Given the description of an element on the screen output the (x, y) to click on. 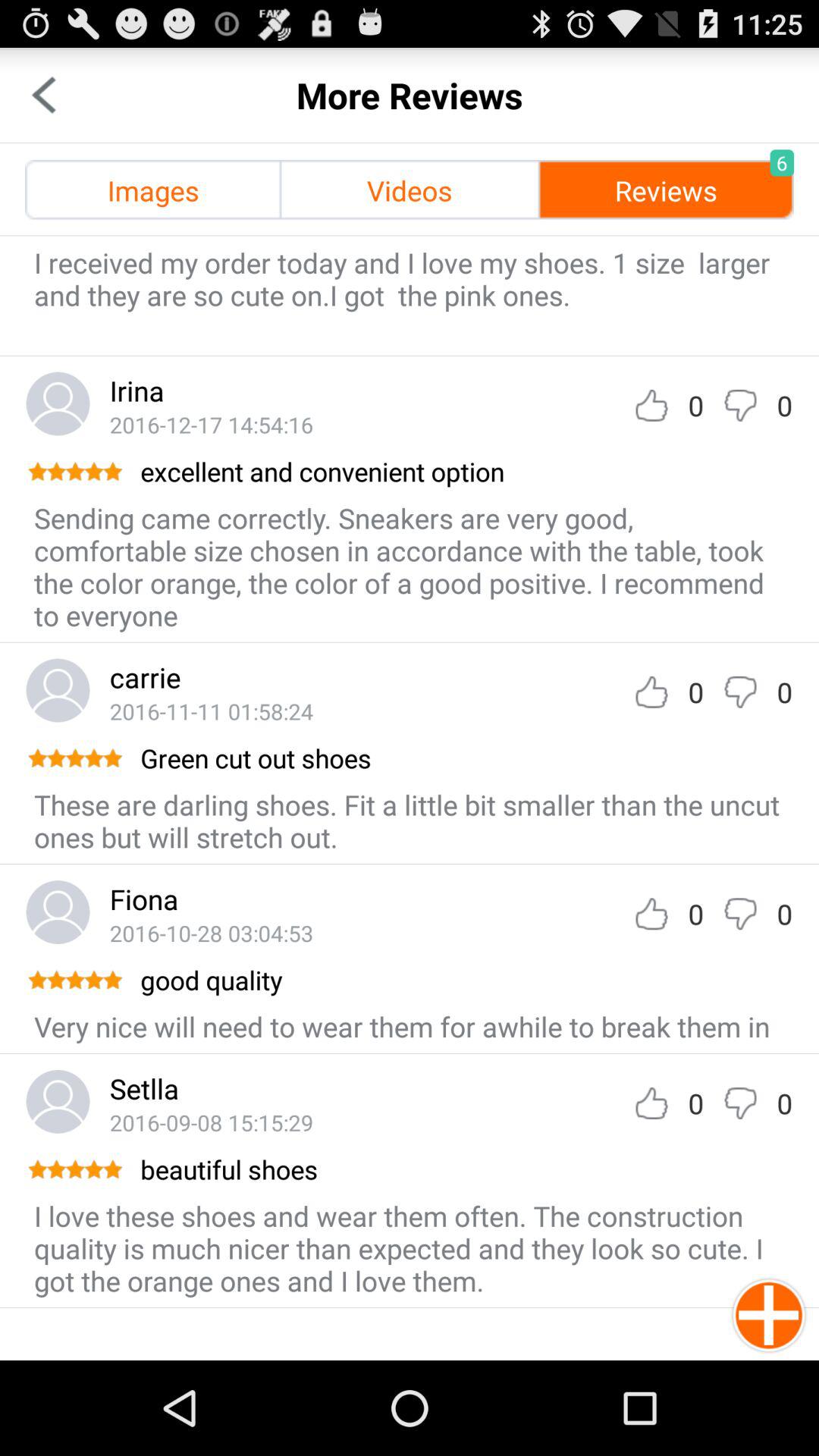
like review (651, 1103)
